Given the description of an element on the screen output the (x, y) to click on. 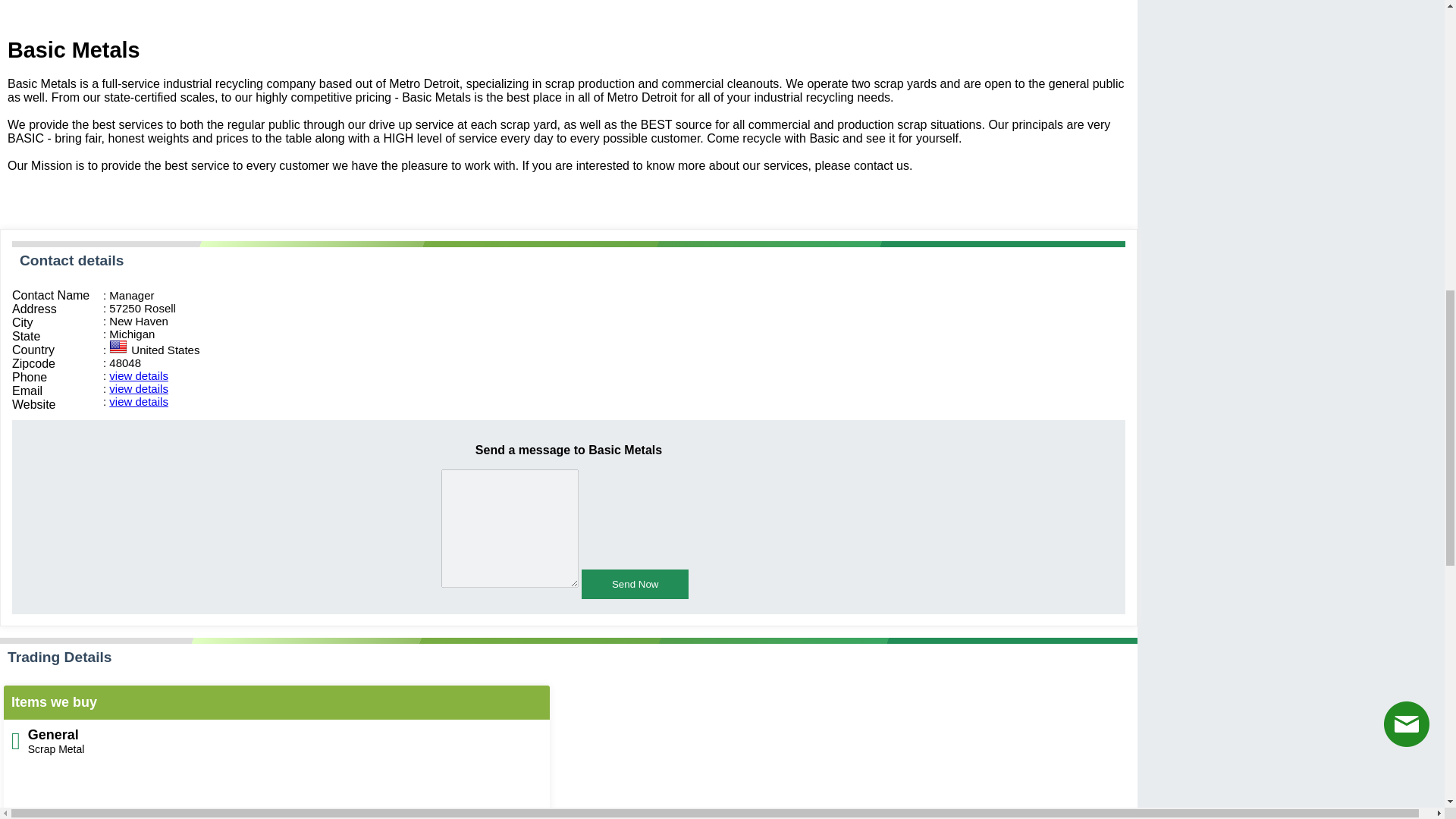
view details (138, 388)
Send Now (634, 583)
view details (138, 375)
view details (138, 400)
United States (118, 346)
